Given the description of an element on the screen output the (x, y) to click on. 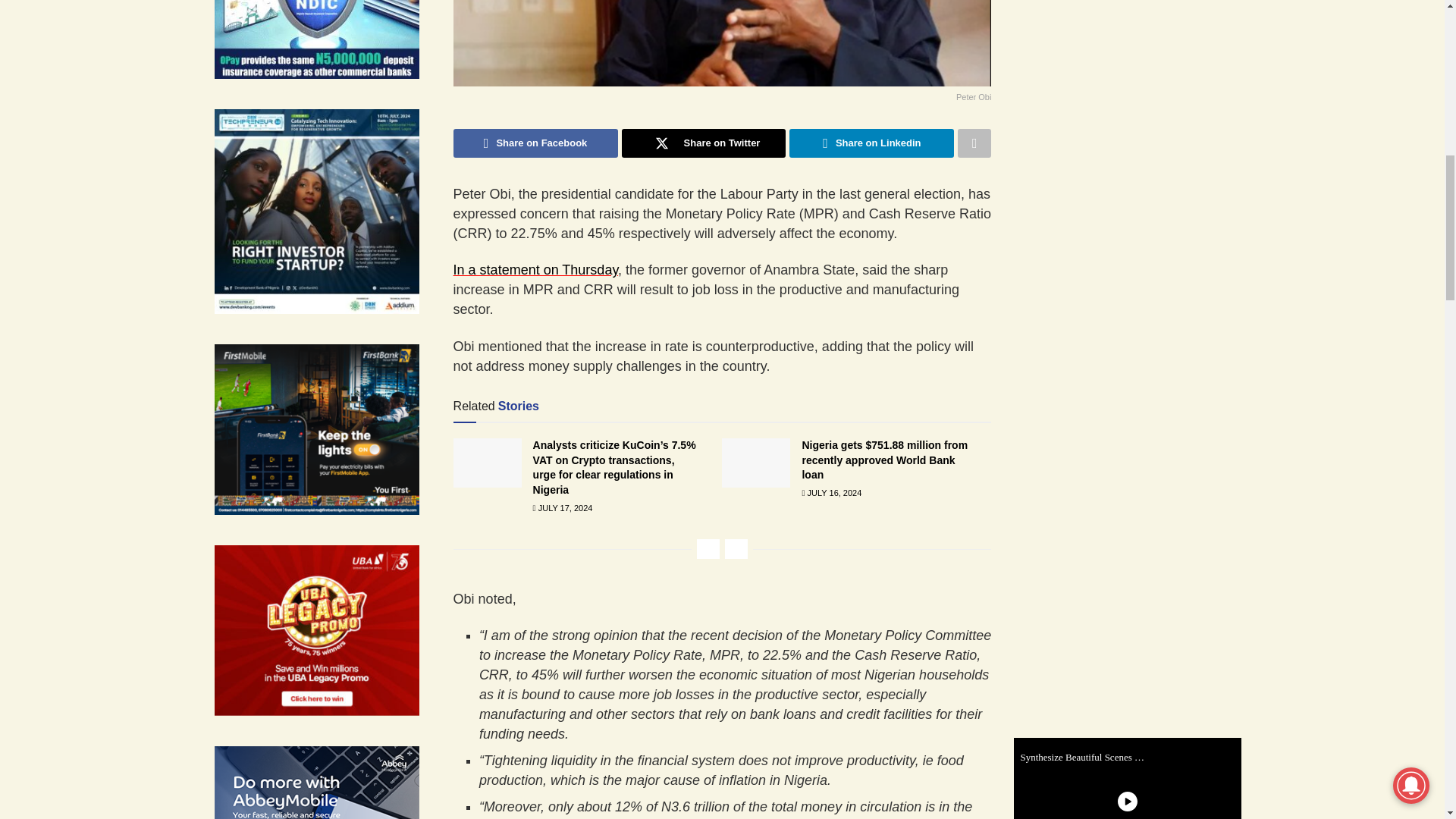
Advertisement (1138, 217)
Previous (708, 548)
Next (736, 548)
